Given the description of an element on the screen output the (x, y) to click on. 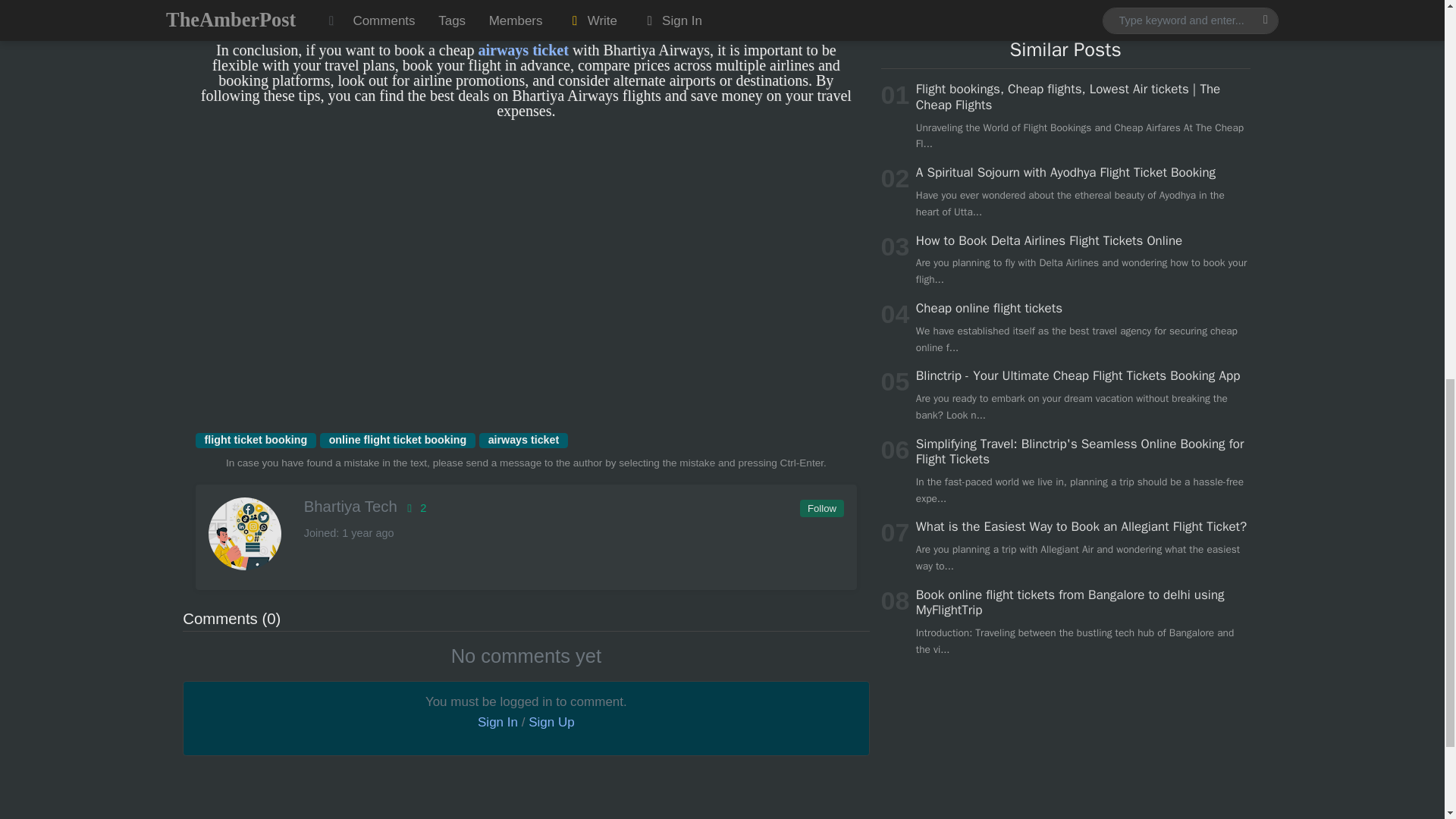
airways ticket (523, 440)
Sign In (497, 721)
flight ticket booking (255, 440)
Sign Up (550, 721)
airways ticket (523, 440)
airways ticket (522, 49)
online flight ticket booking (397, 440)
flight ticket booking (255, 440)
online flight ticket booking (397, 440)
Bhartiya Tech 2 (525, 506)
Follow (821, 508)
Rating (413, 508)
